Given the description of an element on the screen output the (x, y) to click on. 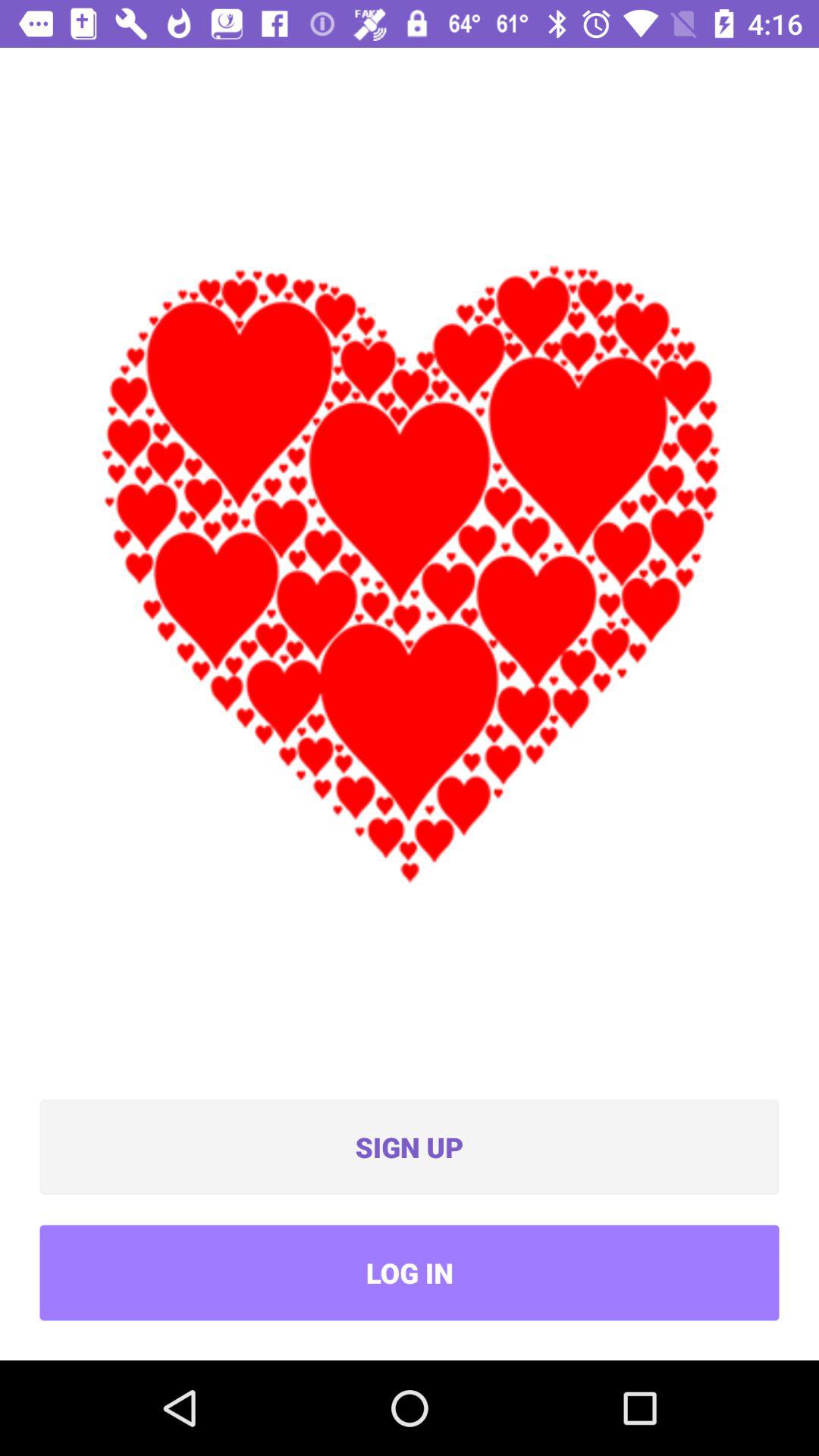
select log in (409, 1272)
